Given the description of an element on the screen output the (x, y) to click on. 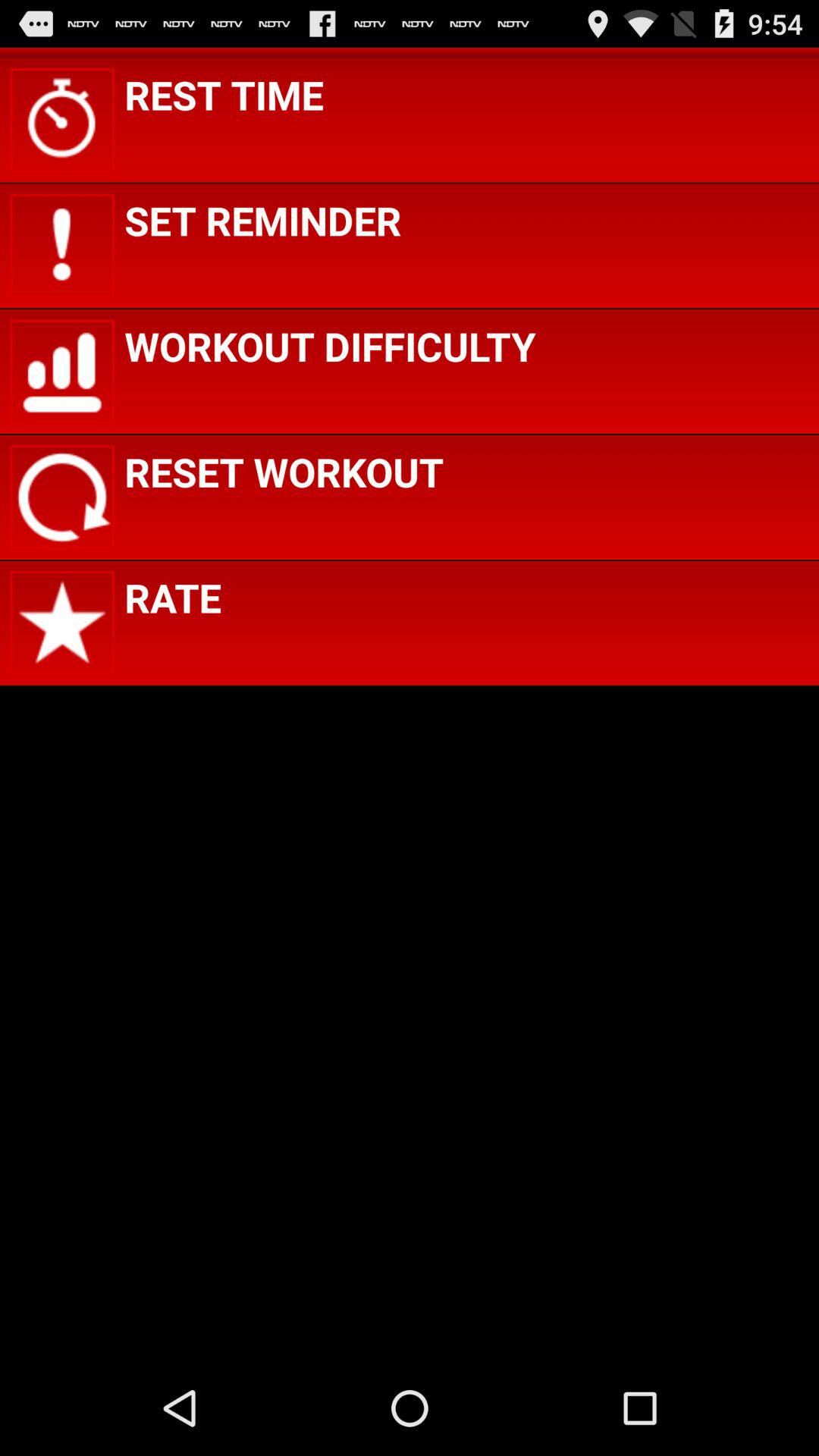
press rate (172, 597)
